Given the description of an element on the screen output the (x, y) to click on. 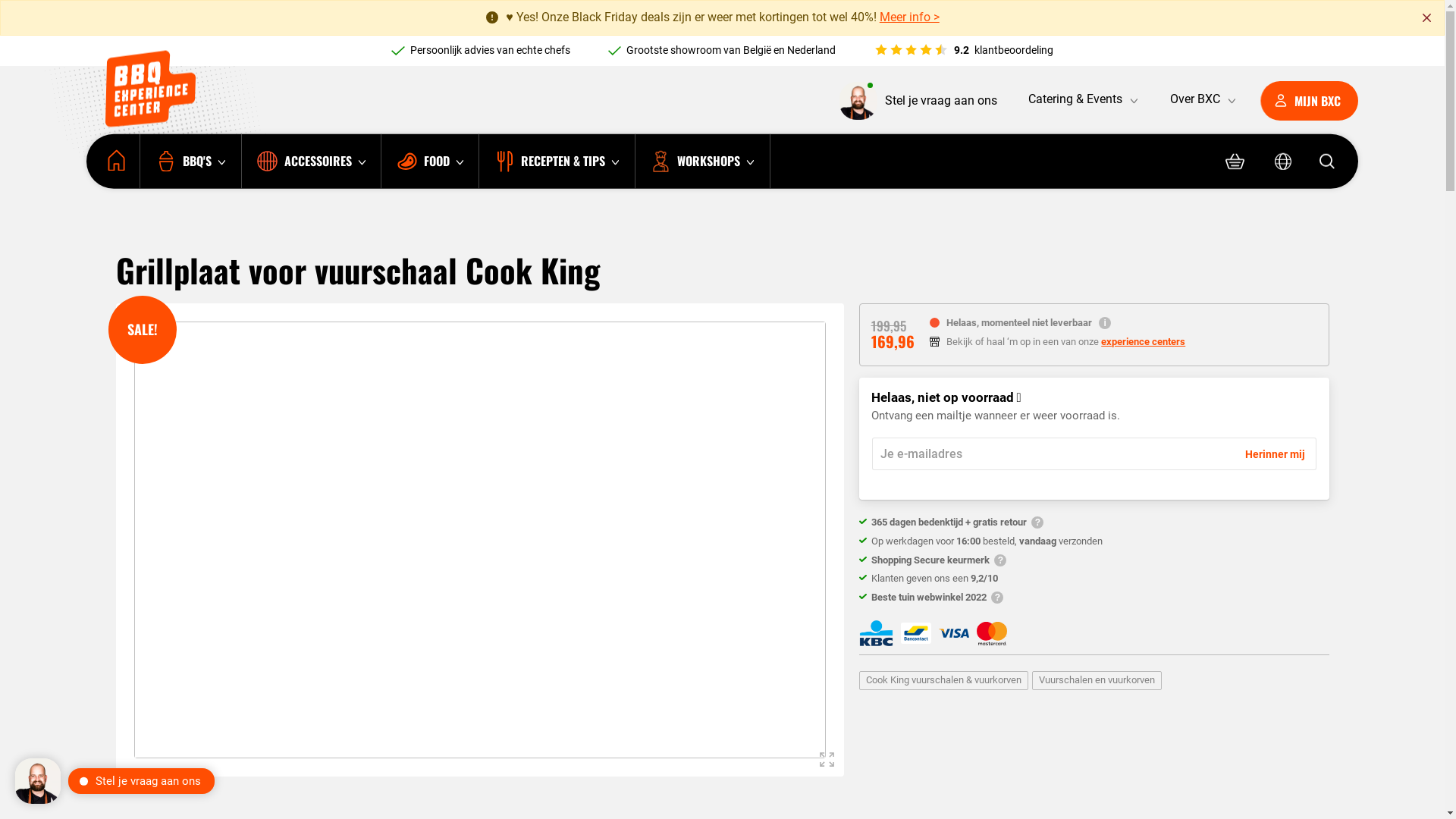
BBQ'S Element type: text (190, 161)
FOOD Element type: text (429, 161)
RECEPTEN & TIPS Element type: text (556, 161)
Vuurschalen en vuurkorven Element type: text (1096, 680)
Over BXC Element type: text (1201, 99)
Catering & Events Element type: text (1081, 99)
ACCESSOIRES Element type: text (310, 161)
365 dagen bedenktijd + gratis retour Element type: text (957, 522)
Meer info > Element type: text (909, 16)
HOME Element type: text (112, 161)
MIJN BXC Element type: text (1309, 100)
Beste tuin webwinkel 2022 Element type: text (937, 597)
Shopping Secure keurmerk Element type: text (938, 559)
Herinner mij Element type: text (1275, 453)
Cook King vuurschalen & vuurkorven Element type: text (942, 680)
WORKSHOPS Element type: text (702, 161)
experience centers Element type: text (1143, 341)
1
2
3
4
5
9.2
klantbeoordeling Element type: text (963, 50)
Stel je vraag aan ons Element type: text (917, 100)
